Given the description of an element on the screen output the (x, y) to click on. 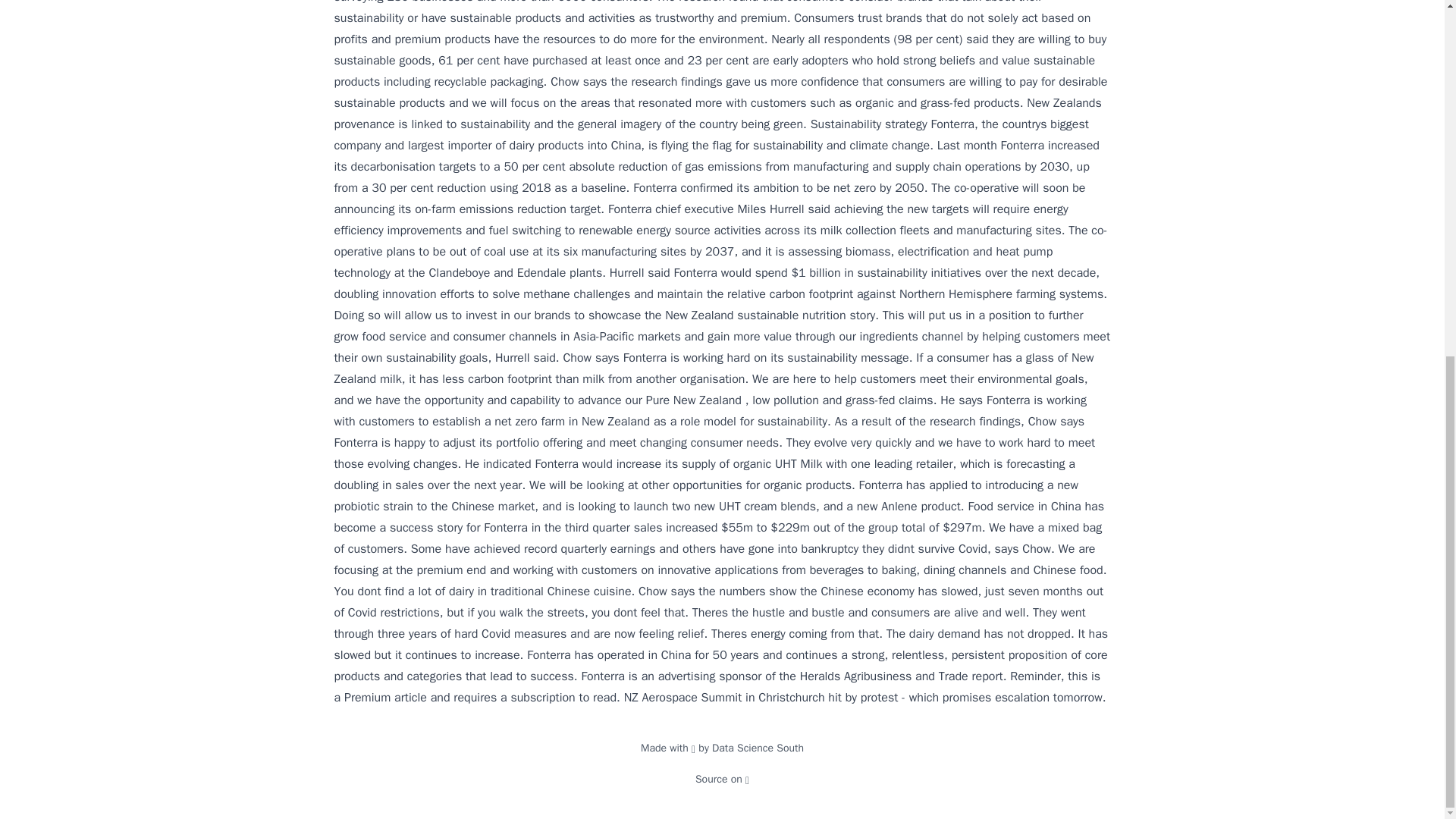
Made with by Data Science South (721, 748)
Source on (722, 779)
